Given the description of an element on the screen output the (x, y) to click on. 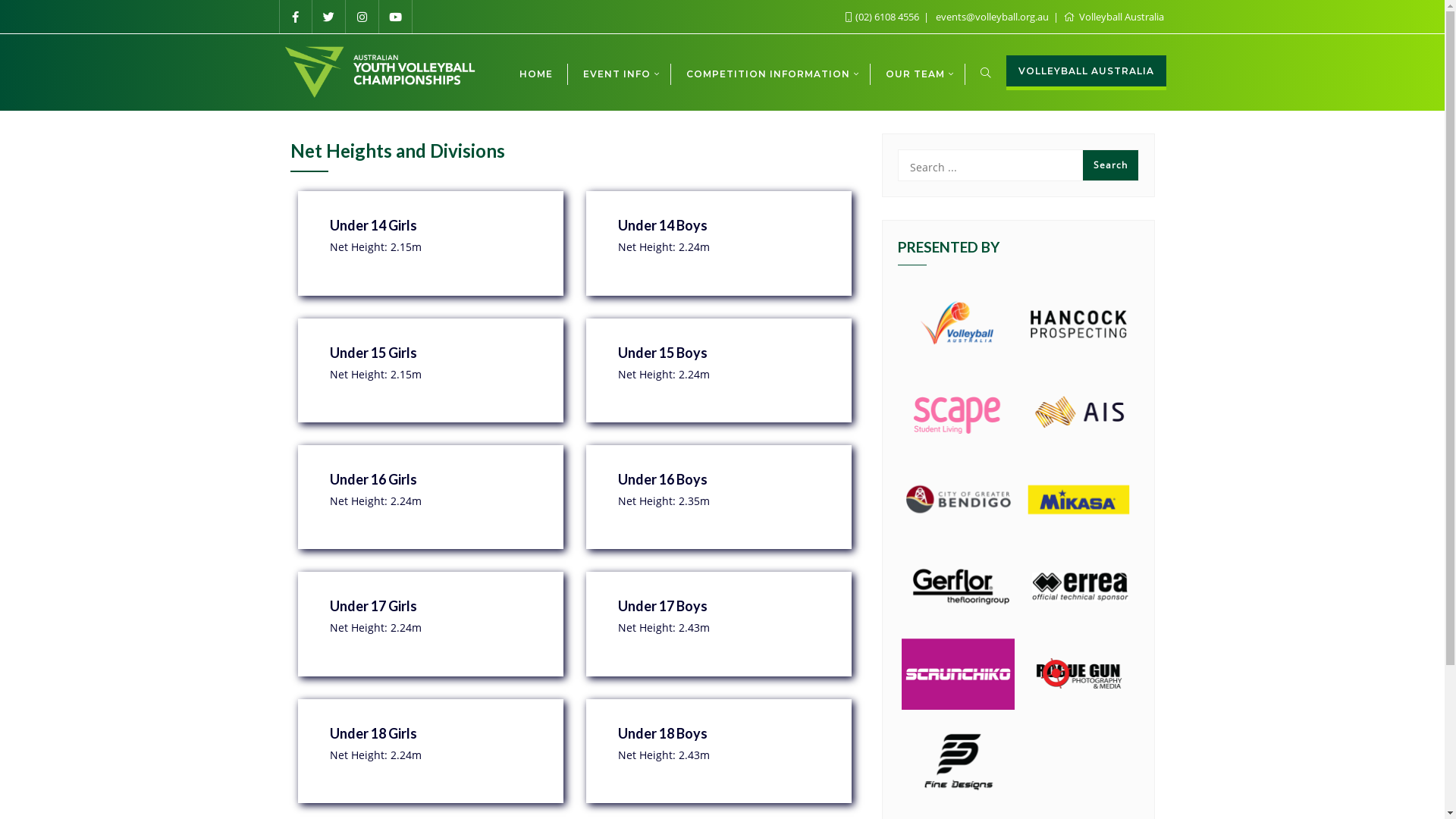
events@volleyball.org.au Element type: text (992, 16)
OUR TEAM Element type: text (917, 72)
Search Element type: text (1110, 165)
Volleyball Australia Element type: text (1113, 16)
COMPETITION INFORMATION Element type: text (769, 72)
VOLLEYBALL AUSTRALIA Element type: text (1085, 72)
(02) 6108 4556 Element type: text (882, 16)
HOME Element type: text (535, 72)
EVENT INFO Element type: text (618, 72)
